Given the description of an element on the screen output the (x, y) to click on. 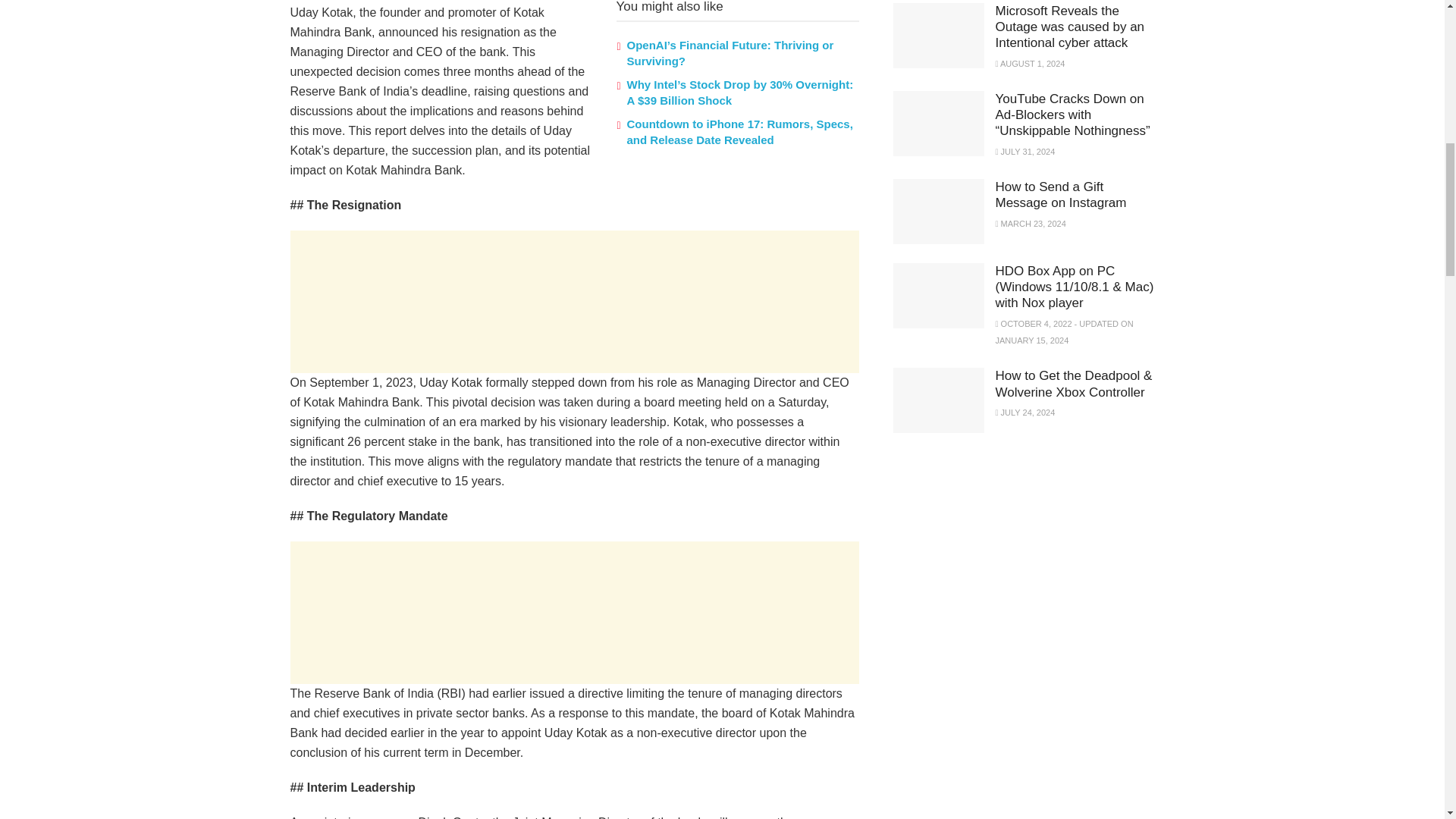
Advertisement (574, 612)
Advertisement (1007, 557)
Advertisement (574, 301)
